Given the description of an element on the screen output the (x, y) to click on. 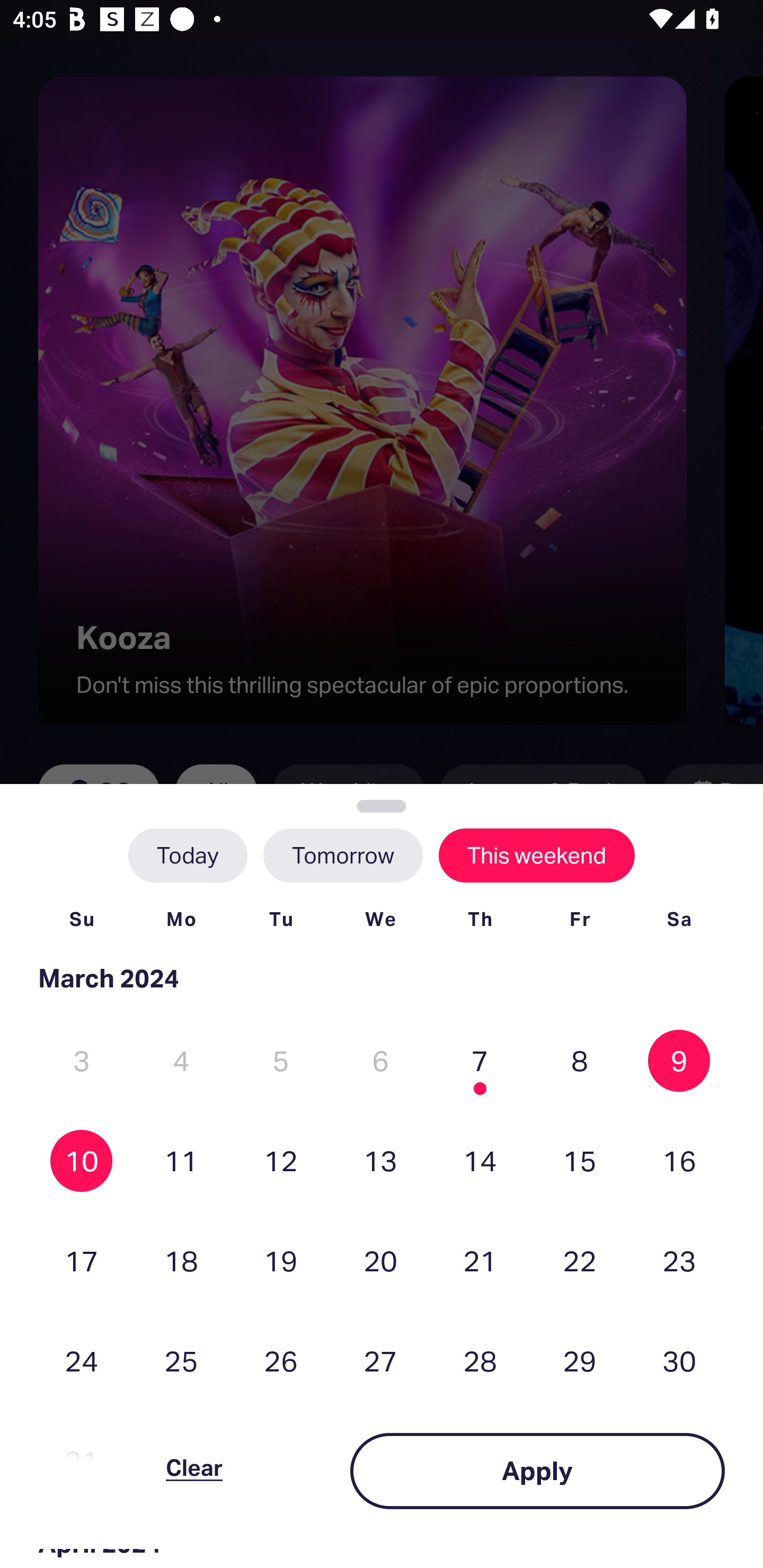
Today (187, 854)
Tomorrow (342, 854)
This weekend (536, 854)
3 (81, 1060)
4 (181, 1060)
5 (280, 1060)
6 (380, 1060)
7 (479, 1060)
8 (579, 1060)
9 (678, 1060)
10 (81, 1160)
11 (181, 1160)
12 (280, 1160)
13 (380, 1160)
14 (479, 1160)
15 (579, 1160)
16 (678, 1160)
17 (81, 1260)
18 (181, 1260)
19 (280, 1260)
20 (380, 1260)
21 (479, 1260)
22 (579, 1260)
23 (678, 1260)
24 (81, 1360)
25 (181, 1360)
26 (280, 1360)
27 (380, 1360)
28 (479, 1360)
29 (579, 1360)
30 (678, 1360)
Clear (194, 1470)
Apply (537, 1470)
